Given the description of an element on the screen output the (x, y) to click on. 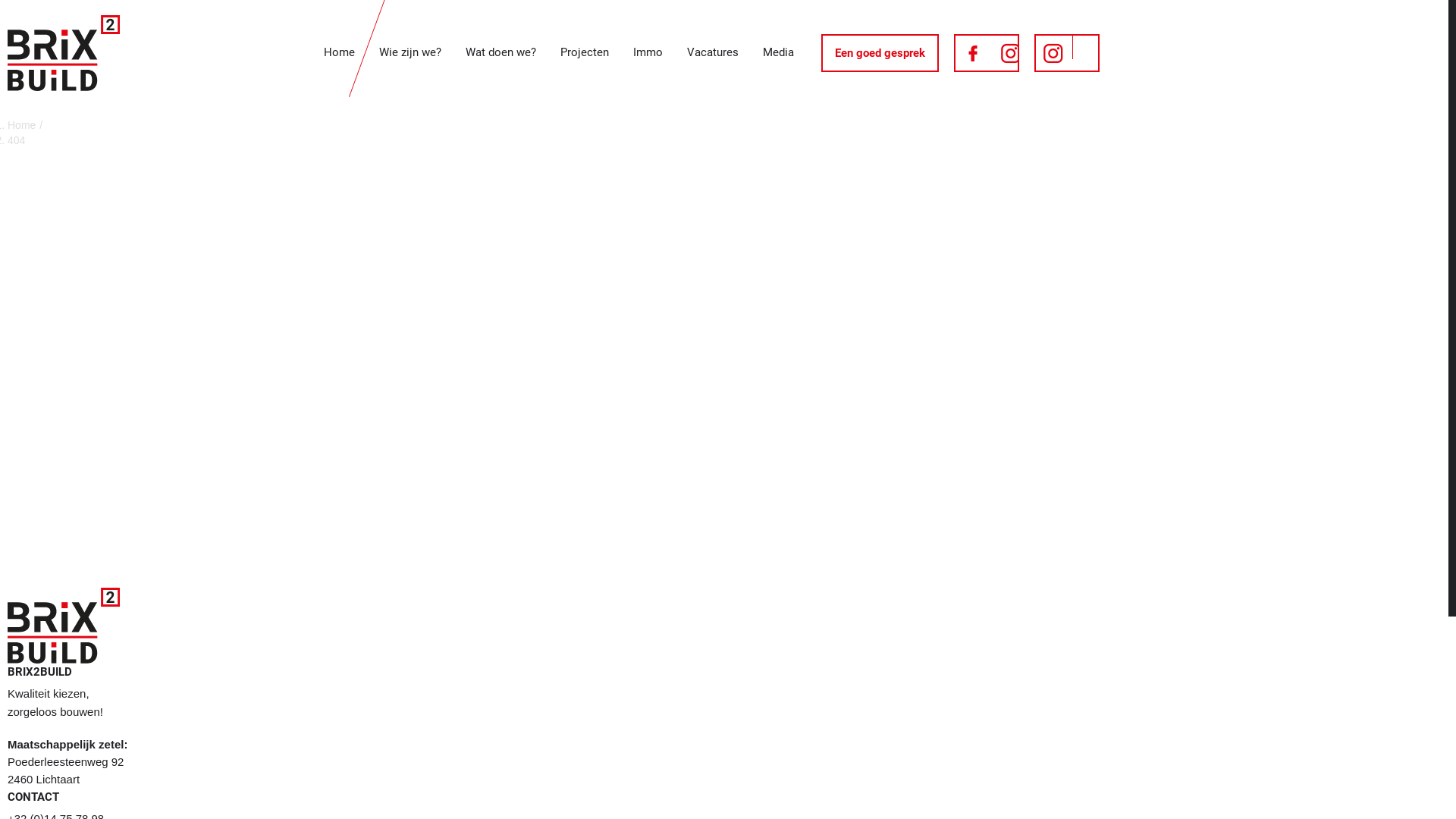
Media Element type: text (777, 52)
Brix2Build Element type: text (63, 53)
Home Element type: text (21, 125)
Brix2Build Element type: text (63, 625)
Vacatures Element type: text (712, 52)
Wat doen we? Element type: text (500, 52)
Een goed gesprek Element type: text (879, 53)
Immo Element type: text (647, 52)
Facebook Element type: text (986, 53)
Instagram Element type: text (1066, 53)
Home Element type: text (338, 52)
Projecten Element type: text (584, 52)
Wie zijn we? Element type: text (410, 52)
